Given the description of an element on the screen output the (x, y) to click on. 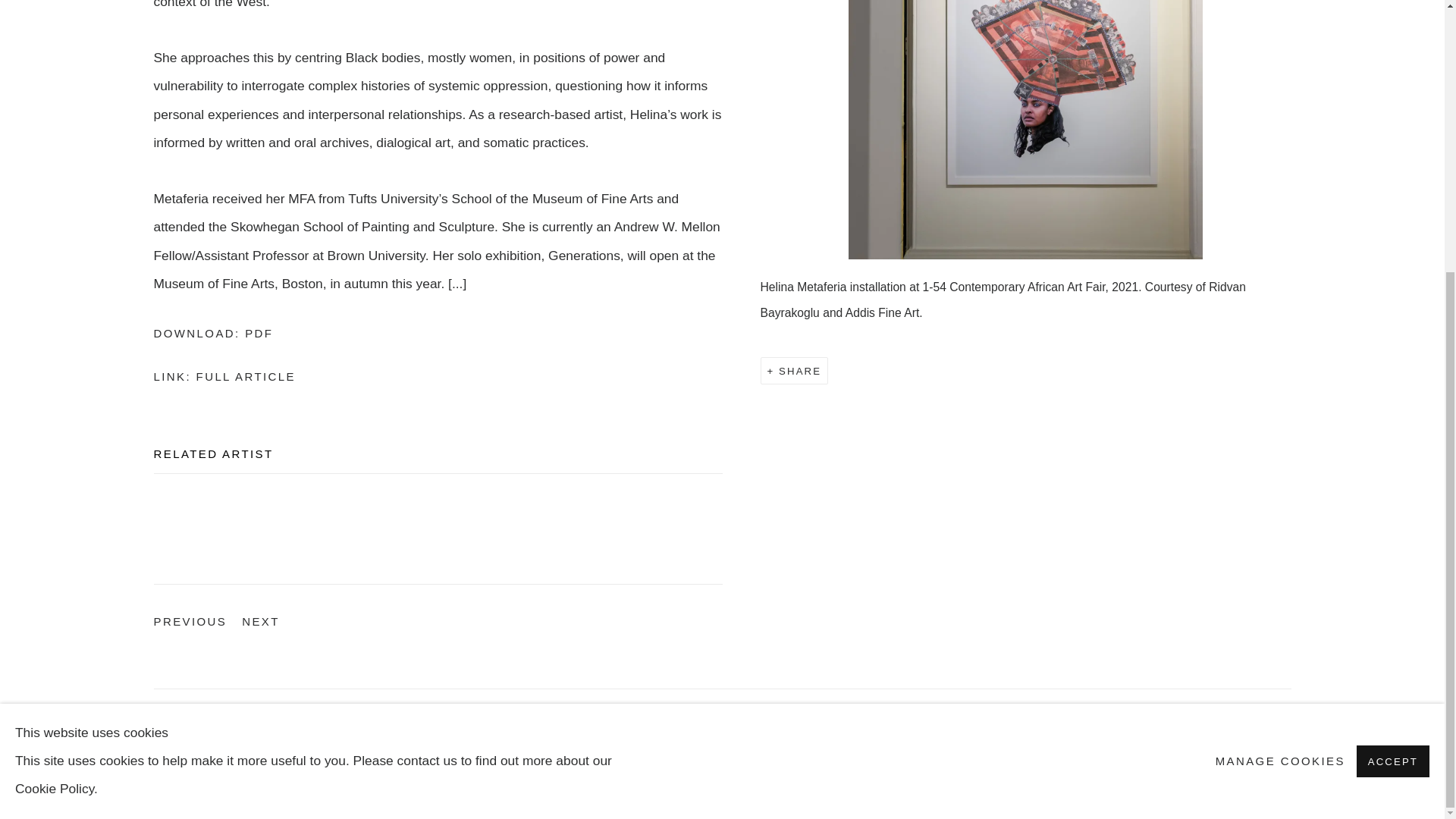
NEXT (260, 621)
SHARE (794, 371)
Privacy Policy (183, 726)
LINK: FULL ARTICLE (437, 376)
PREVIOUS (1214, 723)
DOWNLOAD: PDF (189, 621)
Join the mailing list (437, 333)
MANAGE COOKIES (1246, 723)
Send an email (1280, 362)
